Given the description of an element on the screen output the (x, y) to click on. 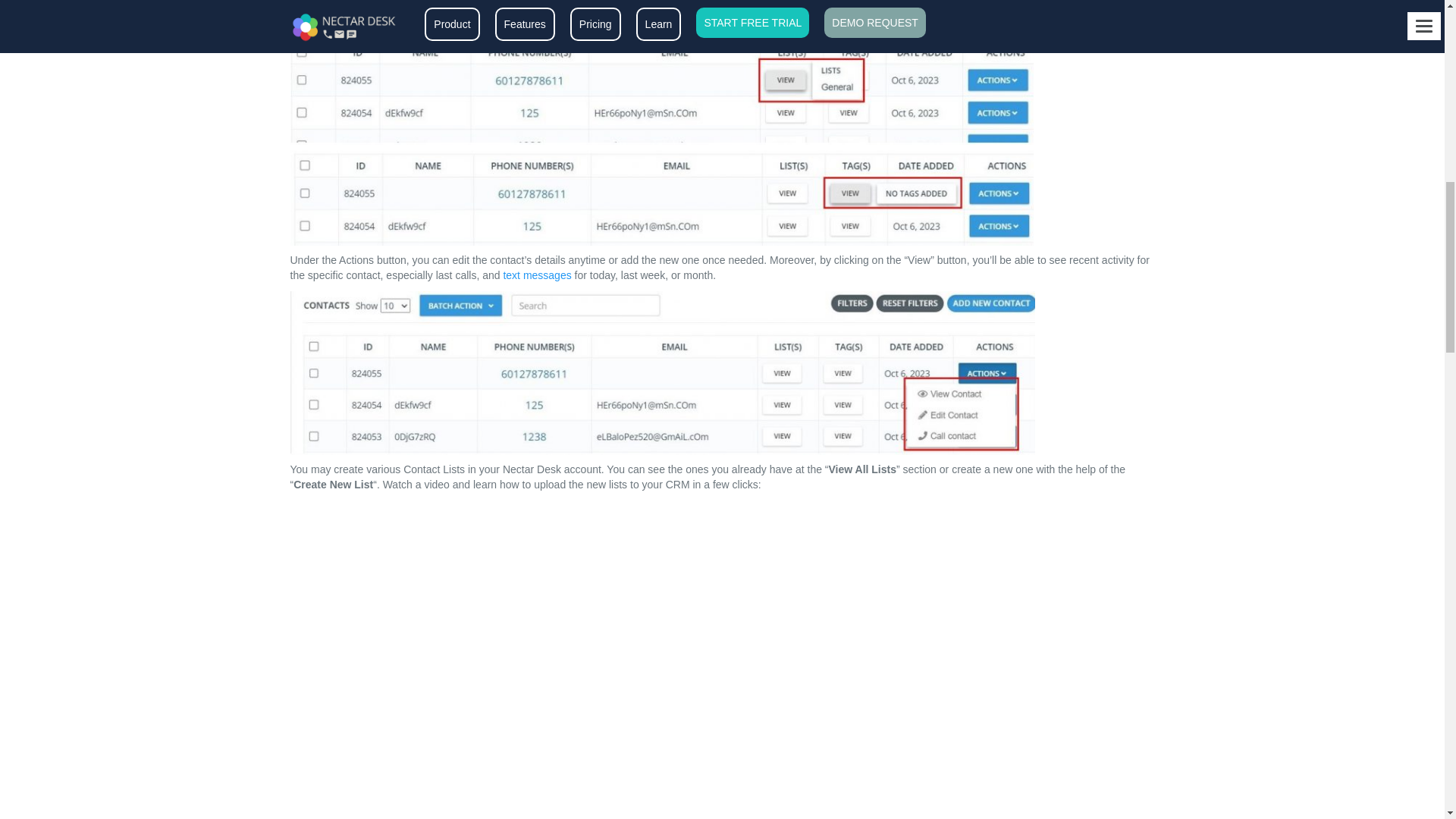
email (349, 28)
text messages (536, 275)
Nectar Desk (414, 12)
